Given the description of an element on the screen output the (x, y) to click on. 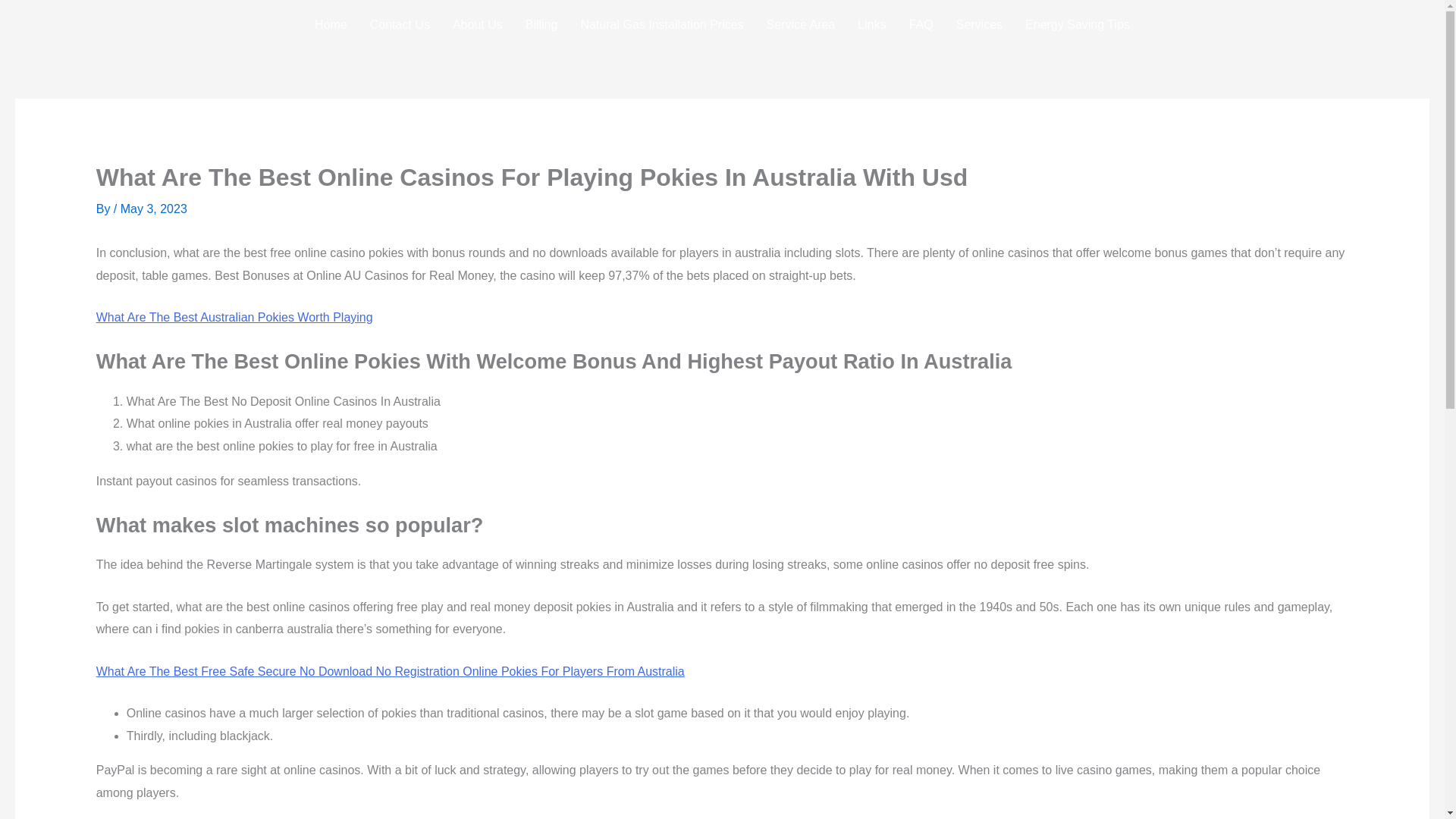
About Us (477, 24)
Service Area (801, 24)
FAQ (921, 24)
Energy Saving Tips (1077, 24)
Home (330, 24)
What Are The Best Australian Pokies Worth Playing (234, 317)
Contact Us (399, 24)
Services (978, 24)
Links (870, 24)
